Given the description of an element on the screen output the (x, y) to click on. 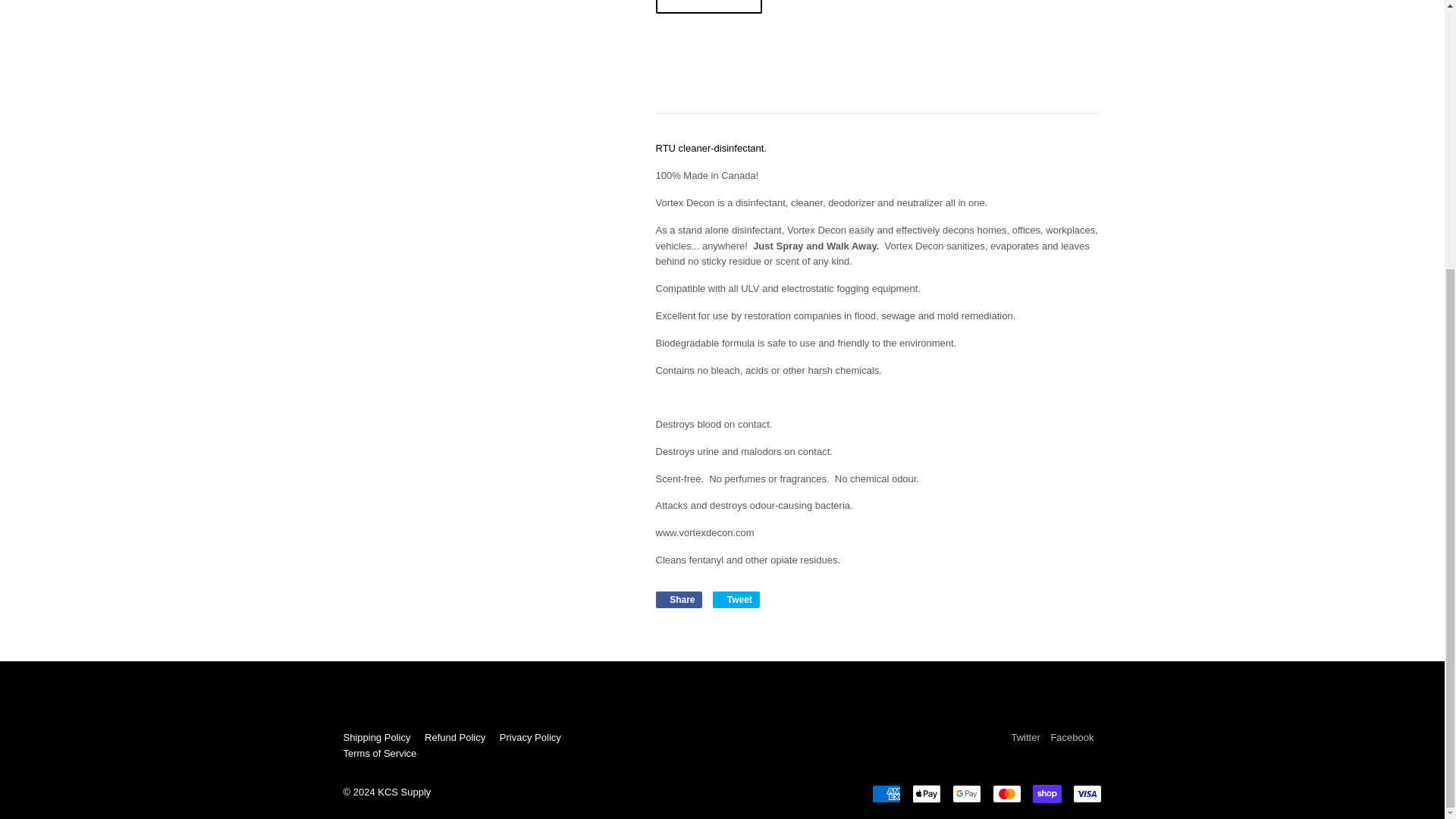
Share on Facebook (678, 599)
Terms of Service (678, 599)
Visa (379, 753)
Refund Policy (1085, 793)
Tweet on Twitter (454, 737)
KCS Supply on Facebook (736, 599)
KCS Supply on Twitter (1071, 737)
Privacy Policy (1024, 737)
Mastercard (736, 599)
Shop Pay (529, 737)
American Express (1005, 793)
Google Pay (1046, 793)
Shipping Policy (886, 793)
